Given the description of an element on the screen output the (x, y) to click on. 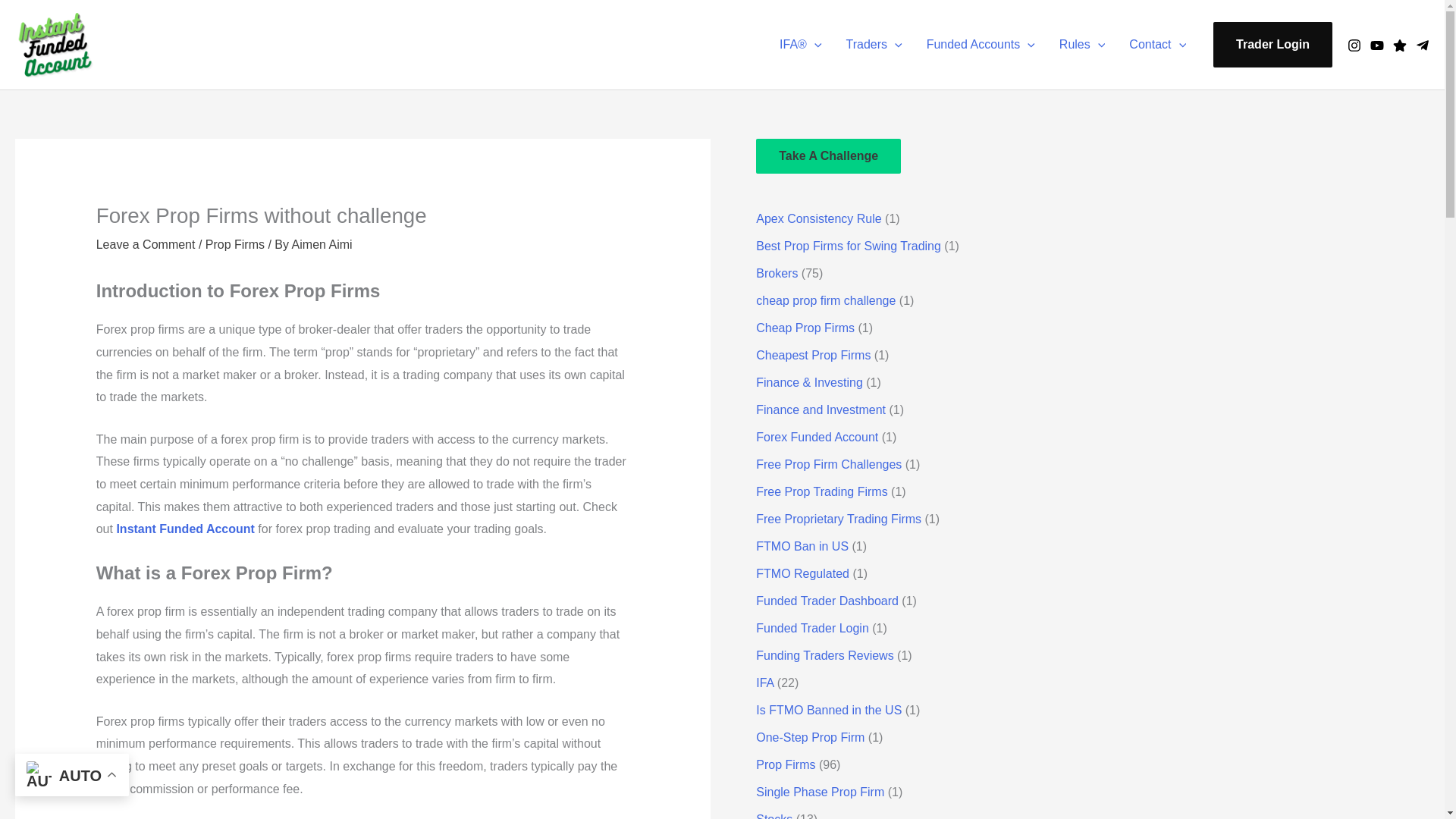
Traders (874, 43)
Contact (1157, 43)
Funded Accounts (980, 43)
View all posts by Aimen Aimi (322, 244)
Rules (1082, 43)
Trader Login (1272, 44)
